Given the description of an element on the screen output the (x, y) to click on. 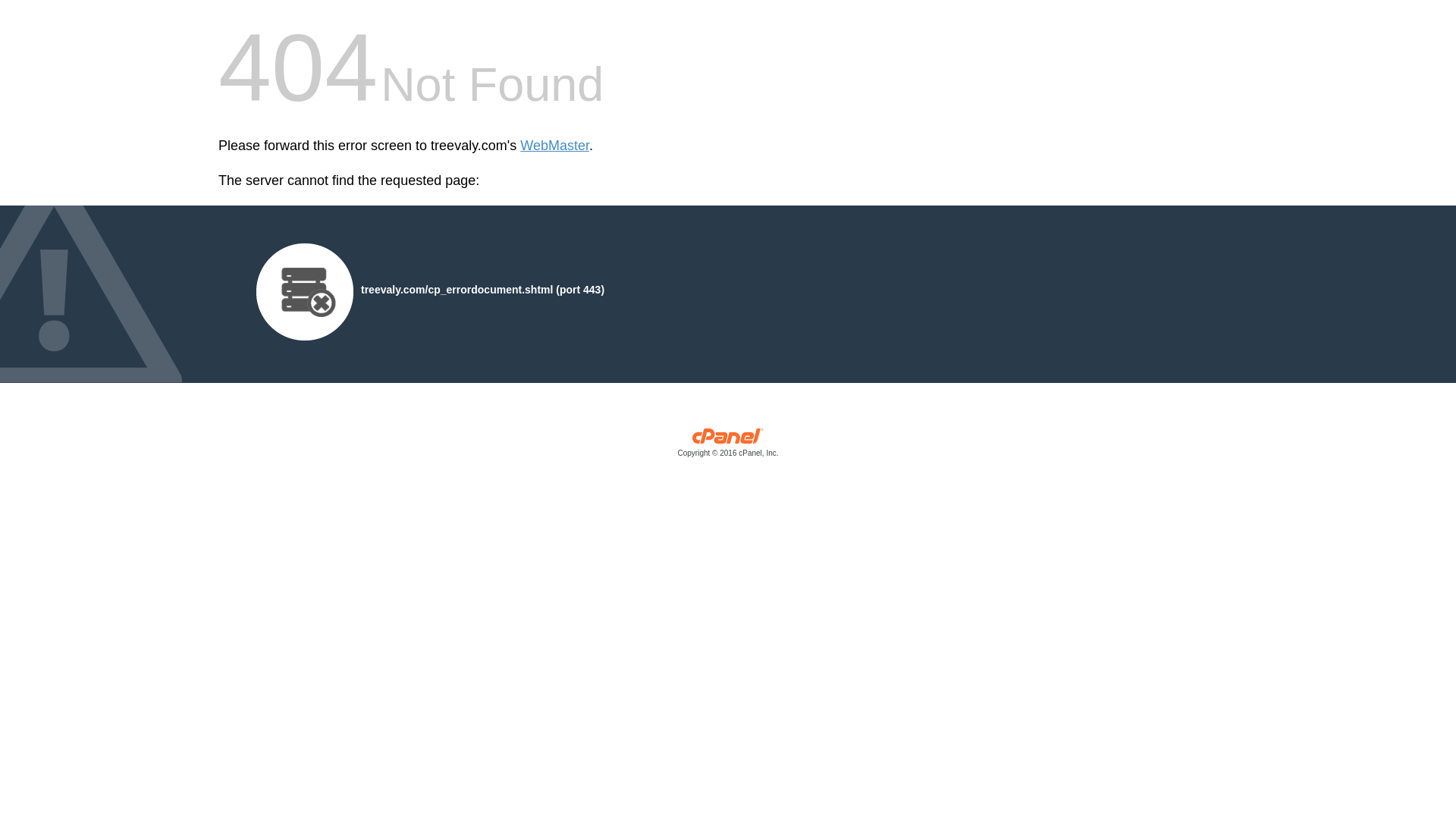
cPanel, Inc. (727, 446)
WebMaster (554, 145)
